Given the description of an element on the screen output the (x, y) to click on. 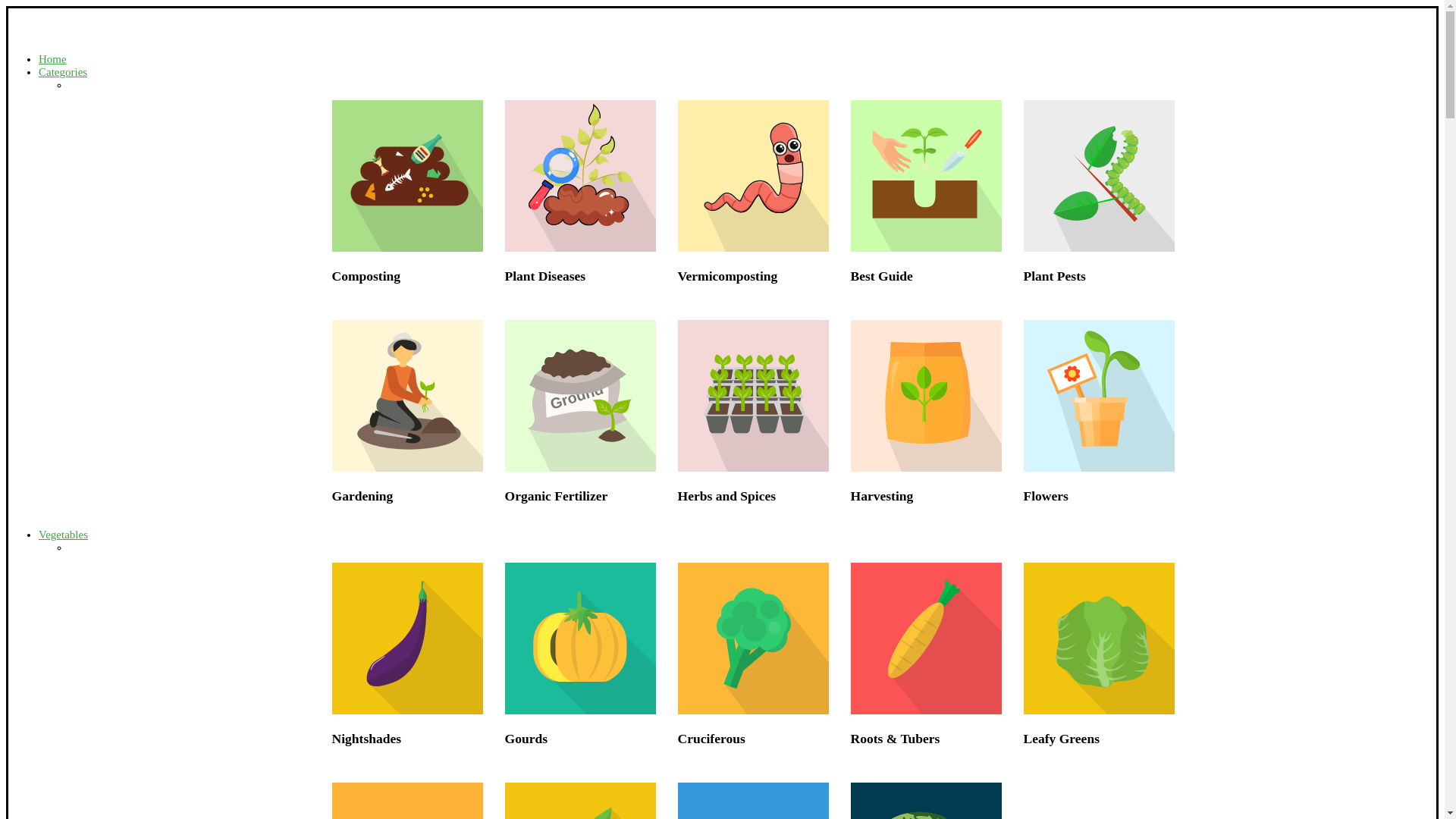
Home (52, 59)
Categories (63, 71)
Vegetables (63, 534)
